Given the description of an element on the screen output the (x, y) to click on. 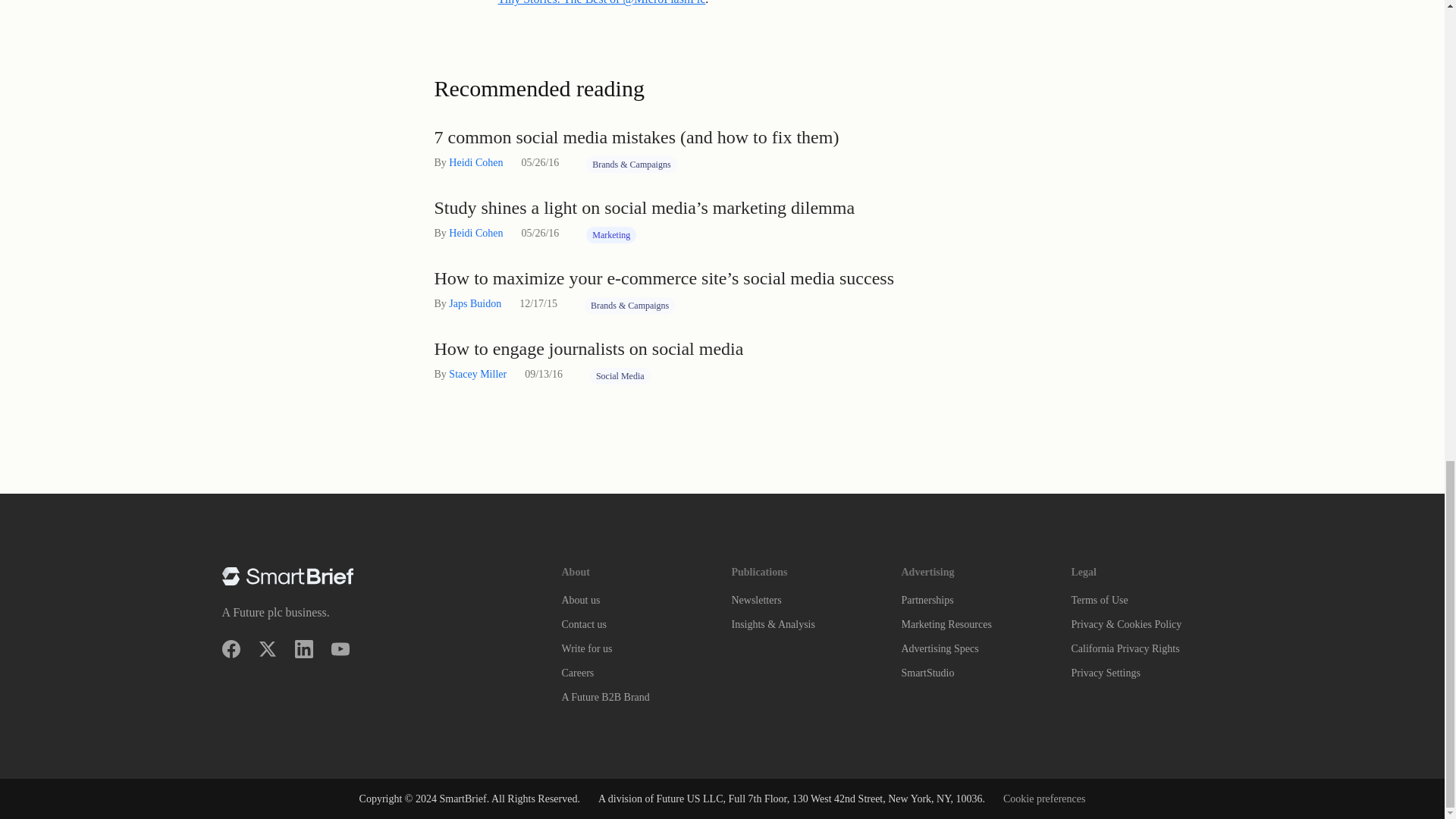
Facebook (230, 648)
LinkedIn (303, 648)
YouTube (339, 648)
